Given the description of an element on the screen output the (x, y) to click on. 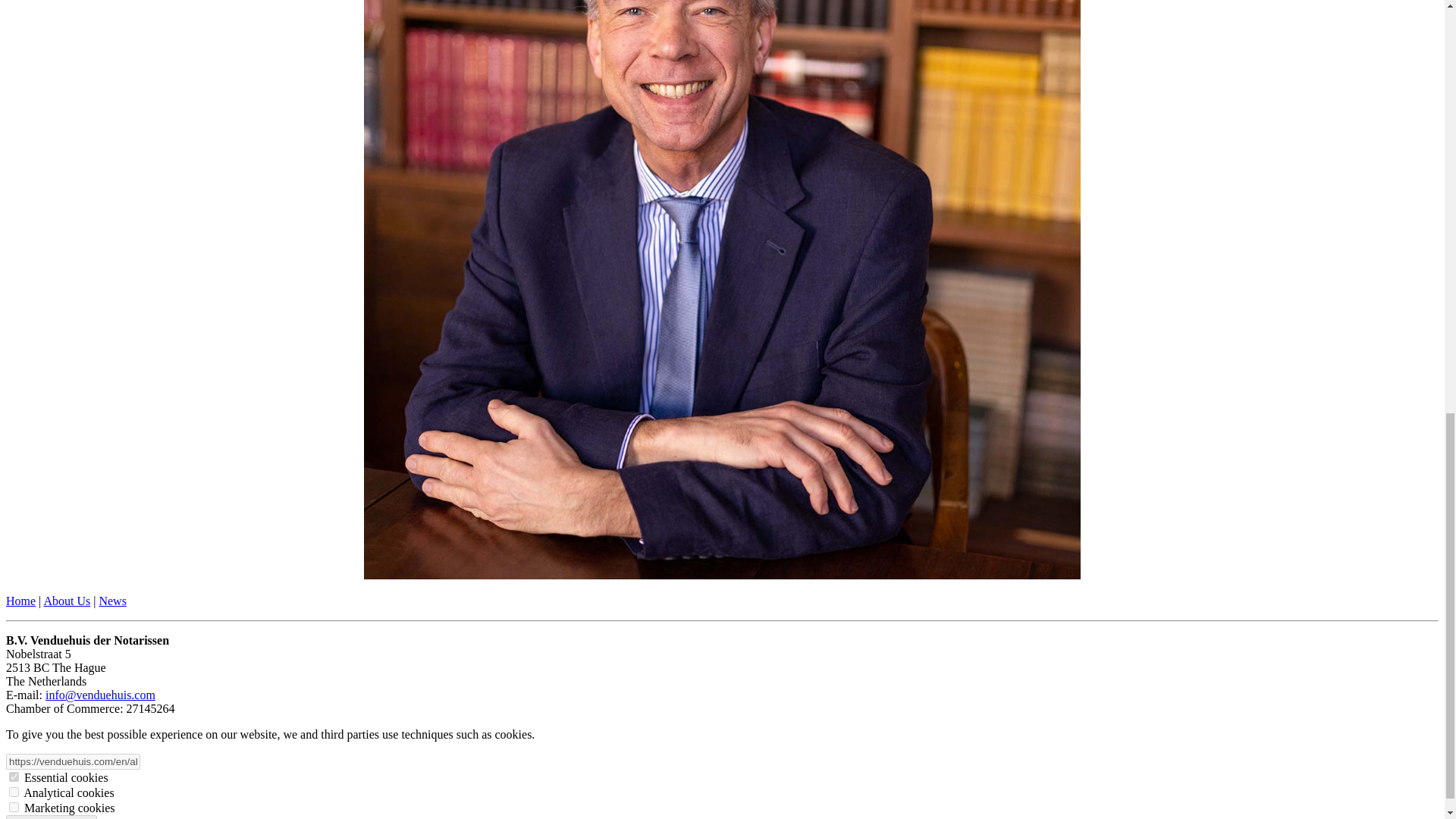
on (13, 777)
on (13, 807)
on (13, 791)
